Given the description of an element on the screen output the (x, y) to click on. 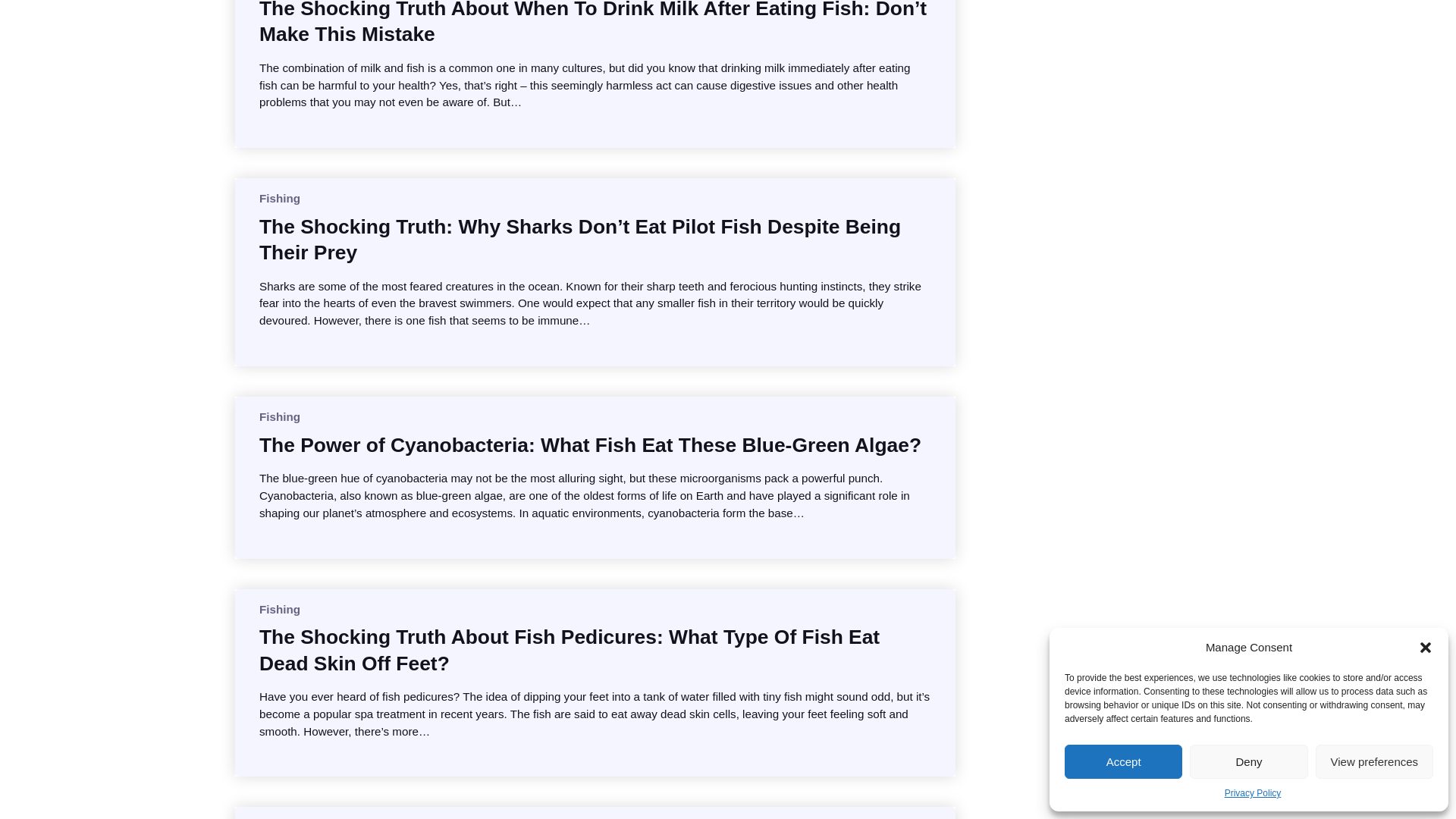
Fishing (279, 608)
Fishing (279, 197)
Fishing (279, 416)
